Given the description of an element on the screen output the (x, y) to click on. 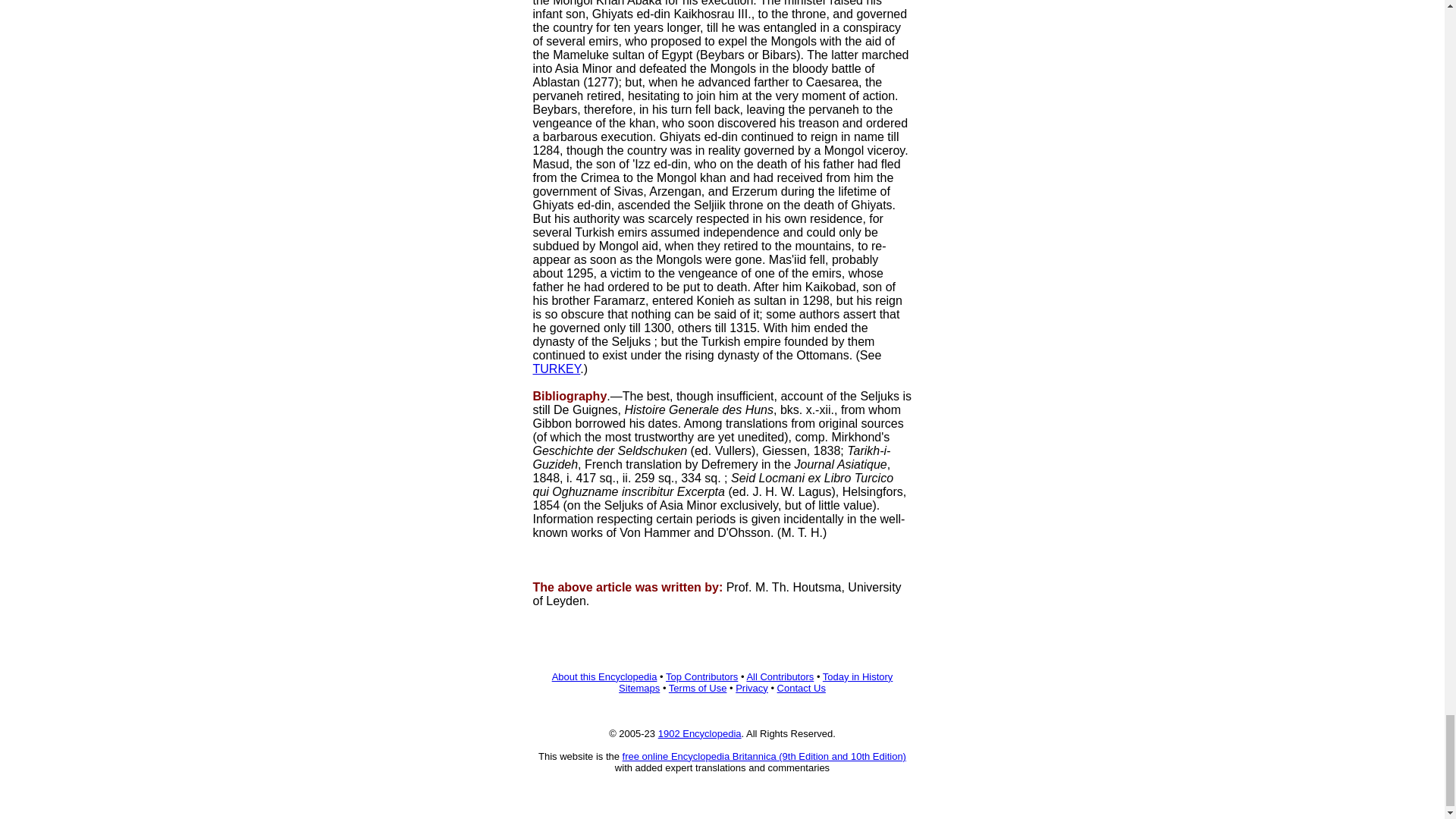
TURKEY (555, 368)
Top Contributors (701, 676)
Today in History (857, 676)
All Contributors (779, 676)
Terms of Use (697, 687)
Sitemaps (638, 687)
About this Encyclopedia (604, 676)
Contact Us (801, 687)
Privacy (751, 687)
1902 Encyclopedia (699, 733)
